Given the description of an element on the screen output the (x, y) to click on. 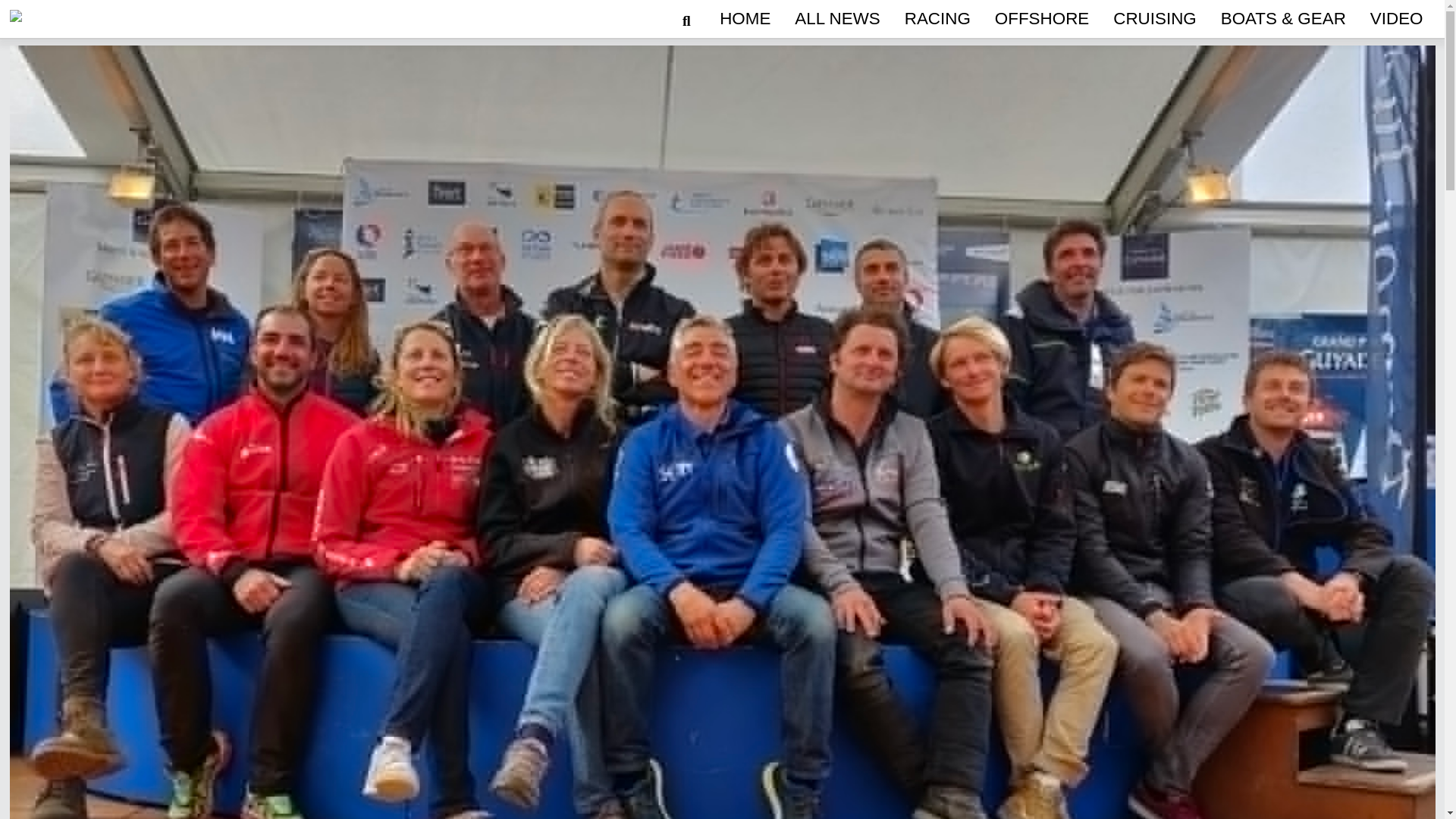
VIDEO (1396, 18)
CRUISING (1154, 18)
Home (744, 18)
All News (837, 18)
RACING (937, 18)
Video (1396, 18)
Racing (937, 18)
HOME (744, 18)
OFFSHORE (1041, 18)
Offshore (1041, 18)
